Given the description of an element on the screen output the (x, y) to click on. 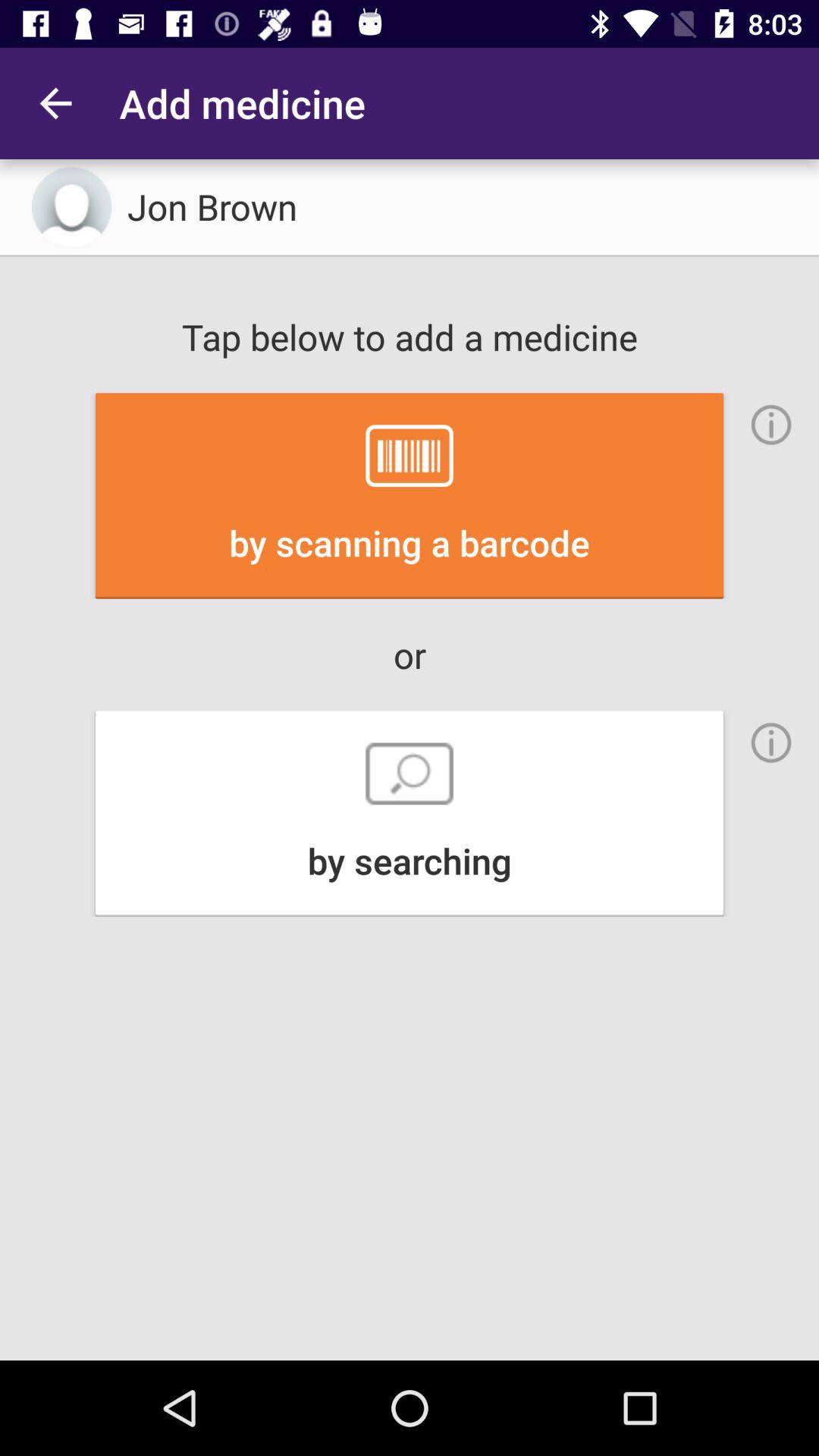
more information (771, 424)
